Given the description of an element on the screen output the (x, y) to click on. 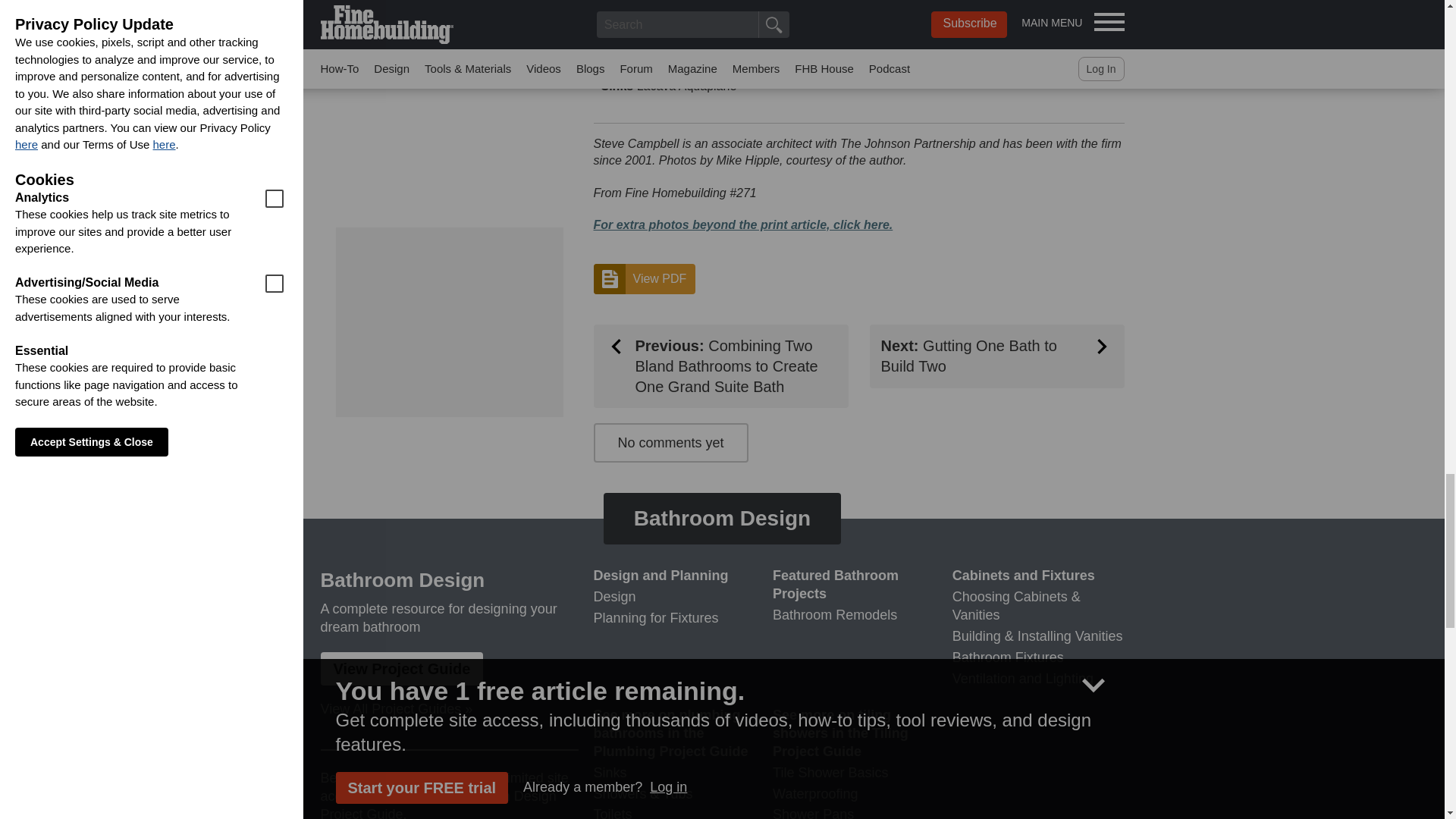
For extra photos beyond the print article, click here. (742, 224)
3rd party ad content (448, 321)
